Given the description of an element on the screen output the (x, y) to click on. 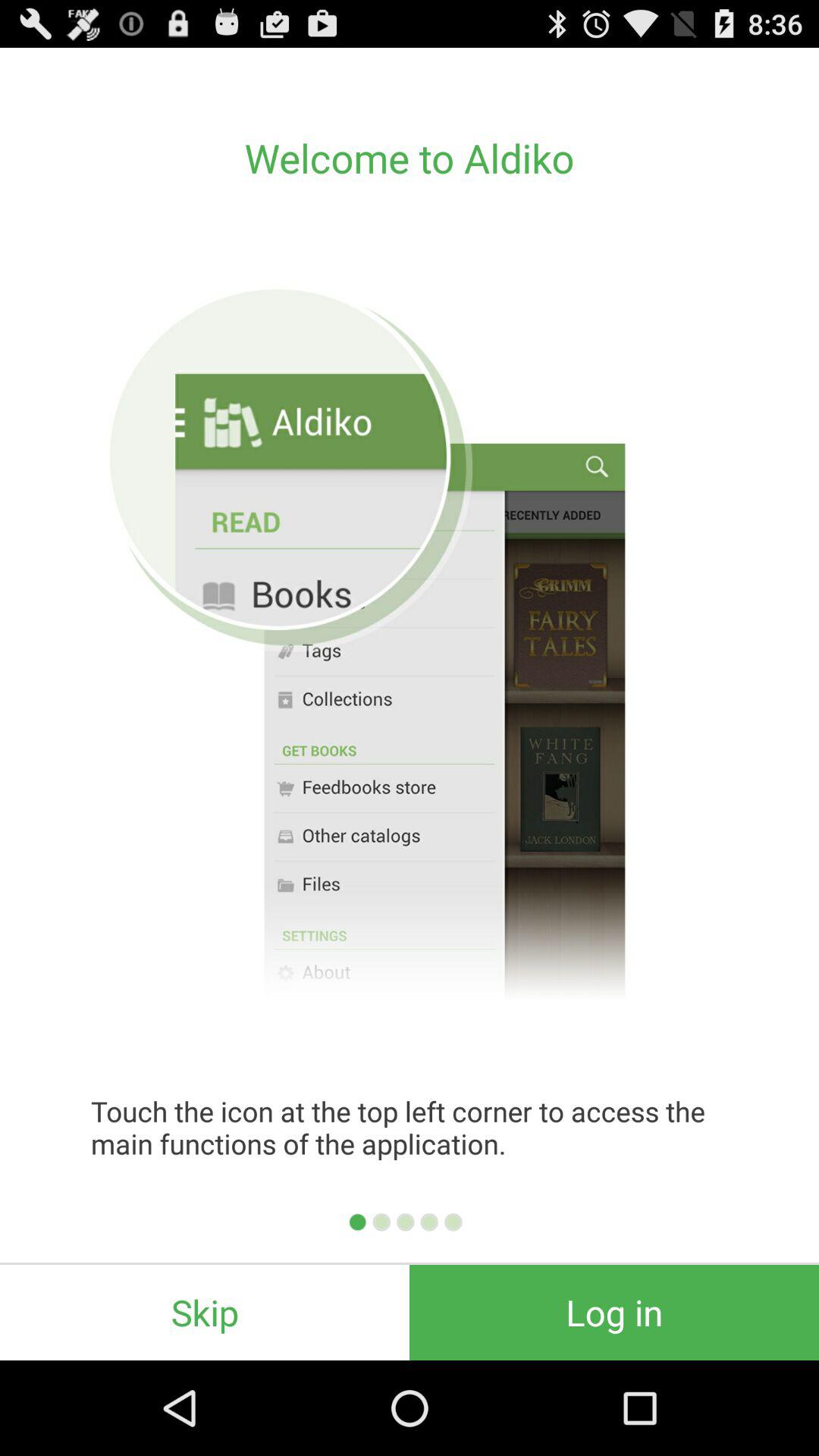
jump until skip (204, 1312)
